Given the description of an element on the screen output the (x, y) to click on. 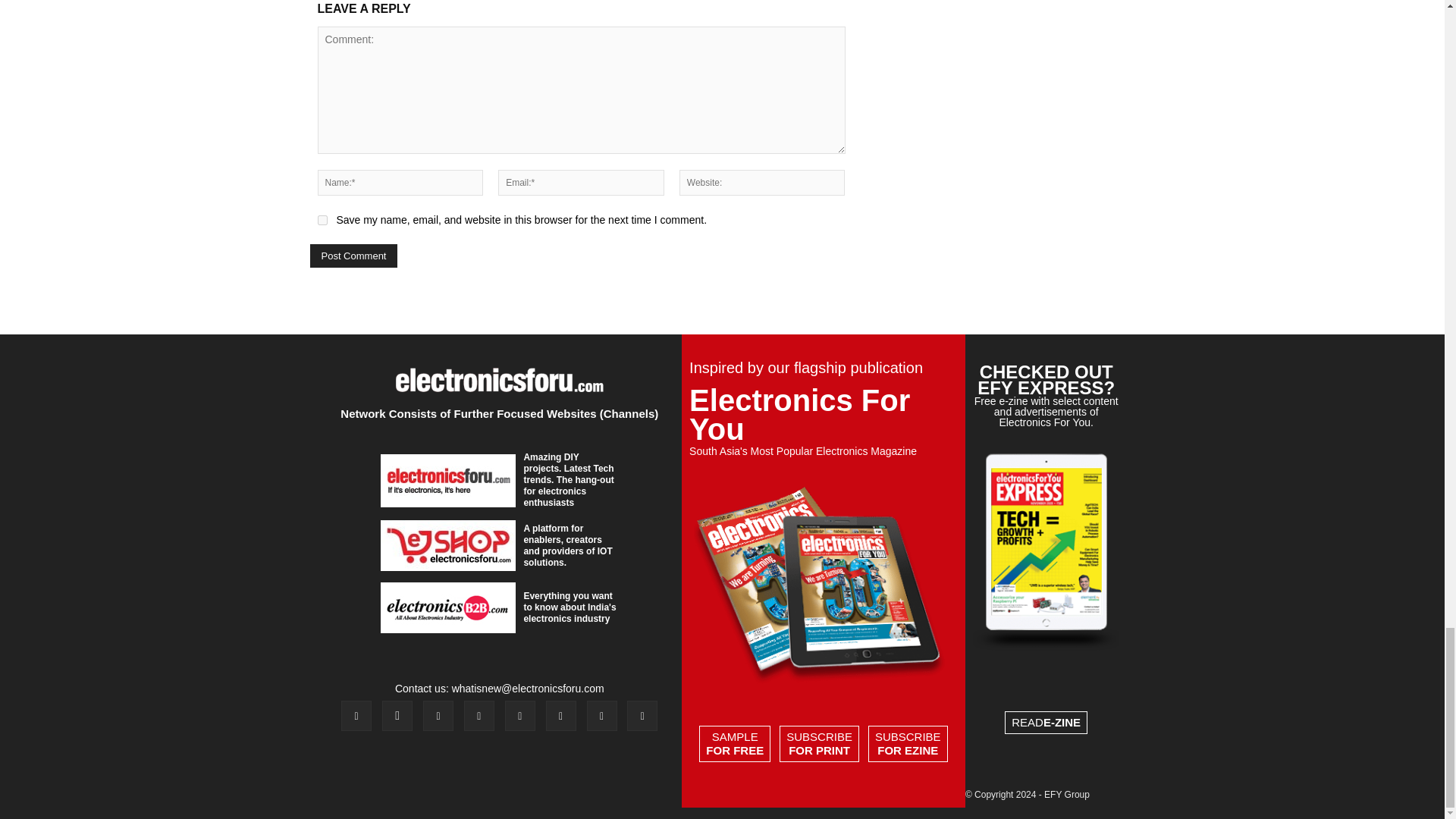
Post Comment (352, 255)
yes (321, 220)
